Given the description of an element on the screen output the (x, y) to click on. 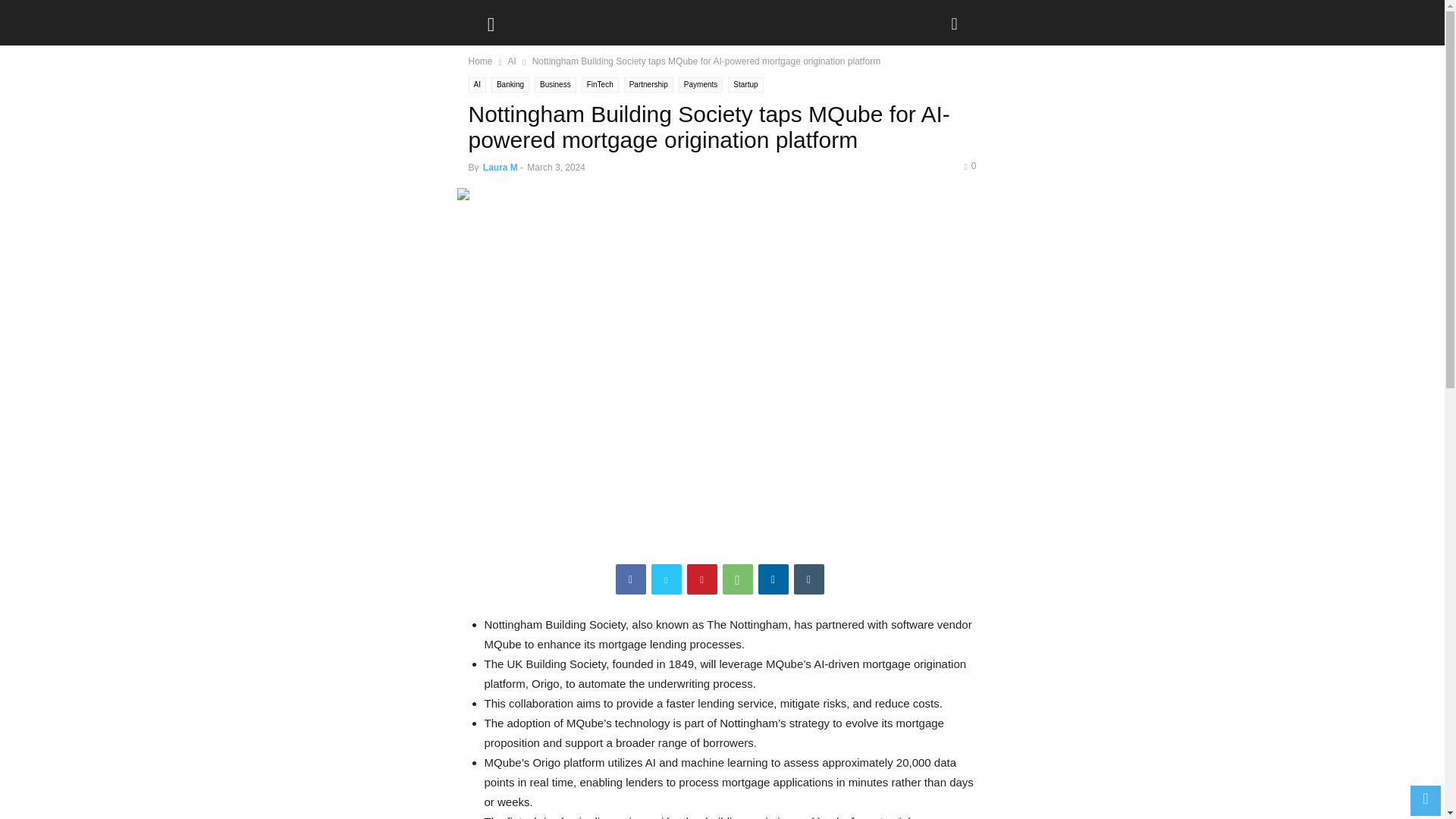
0 (969, 165)
Startup (745, 84)
Business (555, 84)
AI (477, 84)
FinTech InShorts: Fintech News and Intelligence (546, 18)
Pinterest (702, 579)
Payments (700, 84)
Partnership (648, 84)
Linkedin (773, 579)
Home (480, 61)
